Given the description of an element on the screen output the (x, y) to click on. 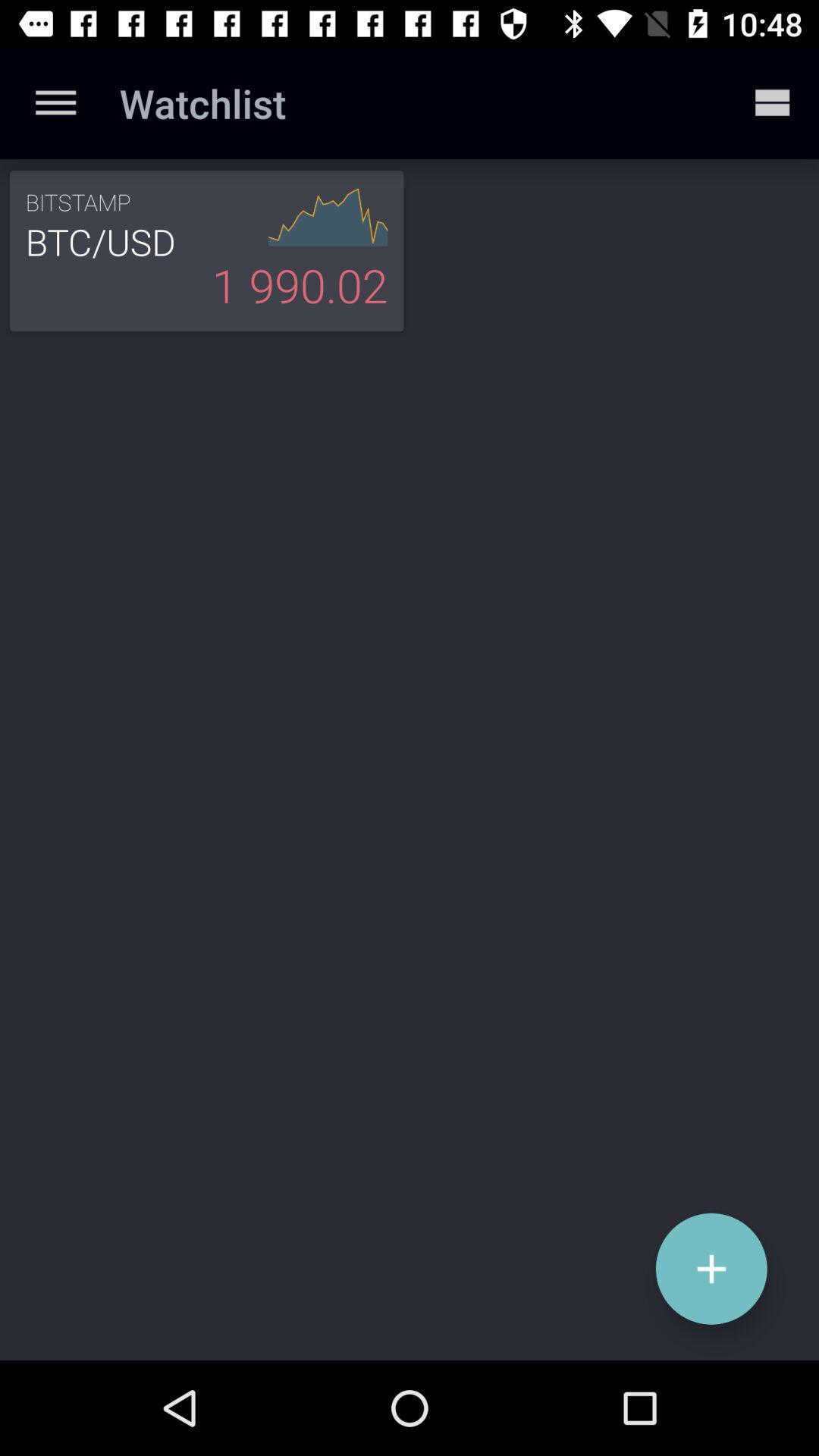
click the item at the bottom right corner (711, 1268)
